Given the description of an element on the screen output the (x, y) to click on. 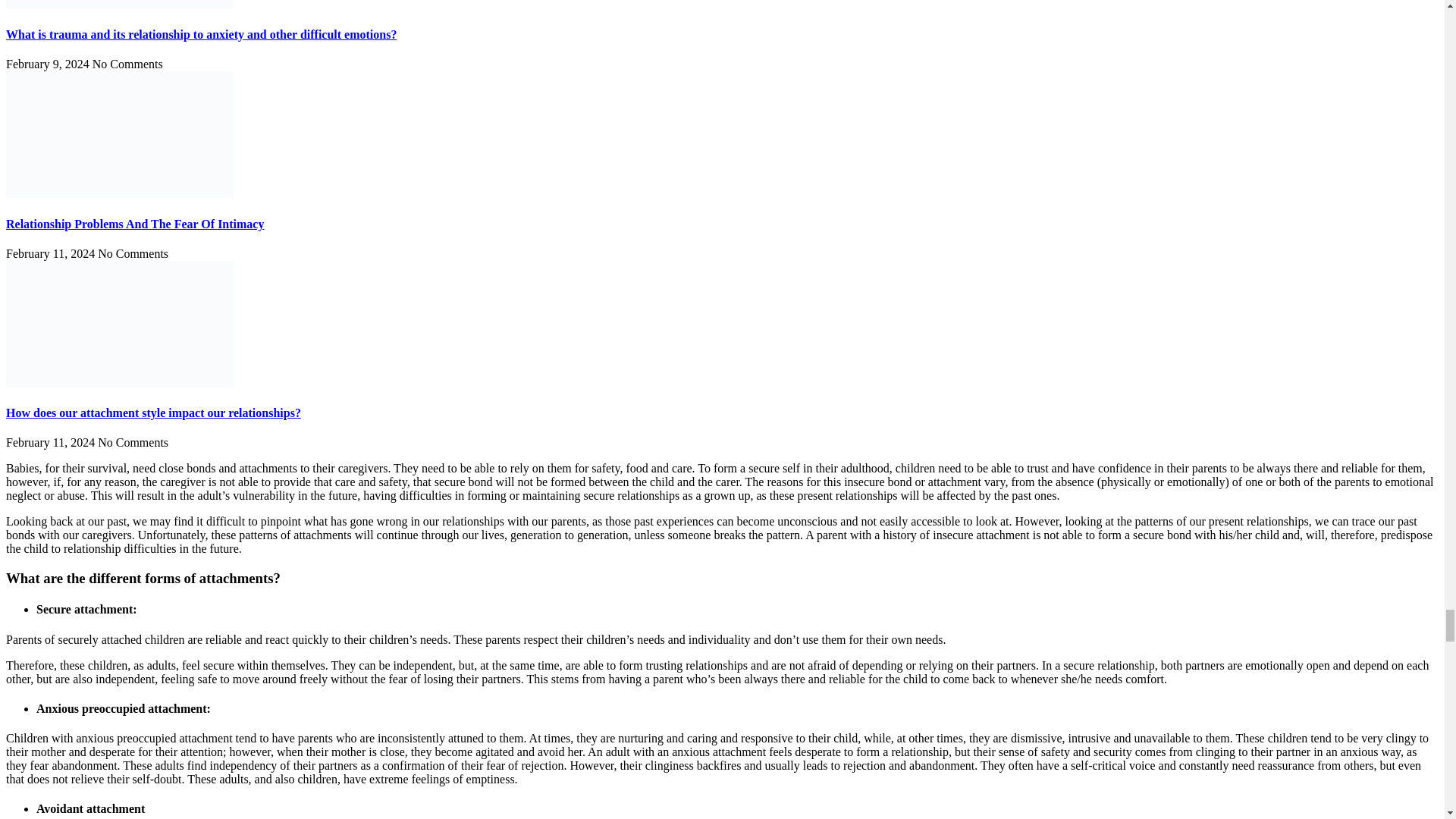
Relationship Problems And The Fear Of Intimacy (134, 223)
How does our attachment style impact our relationships? (153, 412)
